Given the description of an element on the screen output the (x, y) to click on. 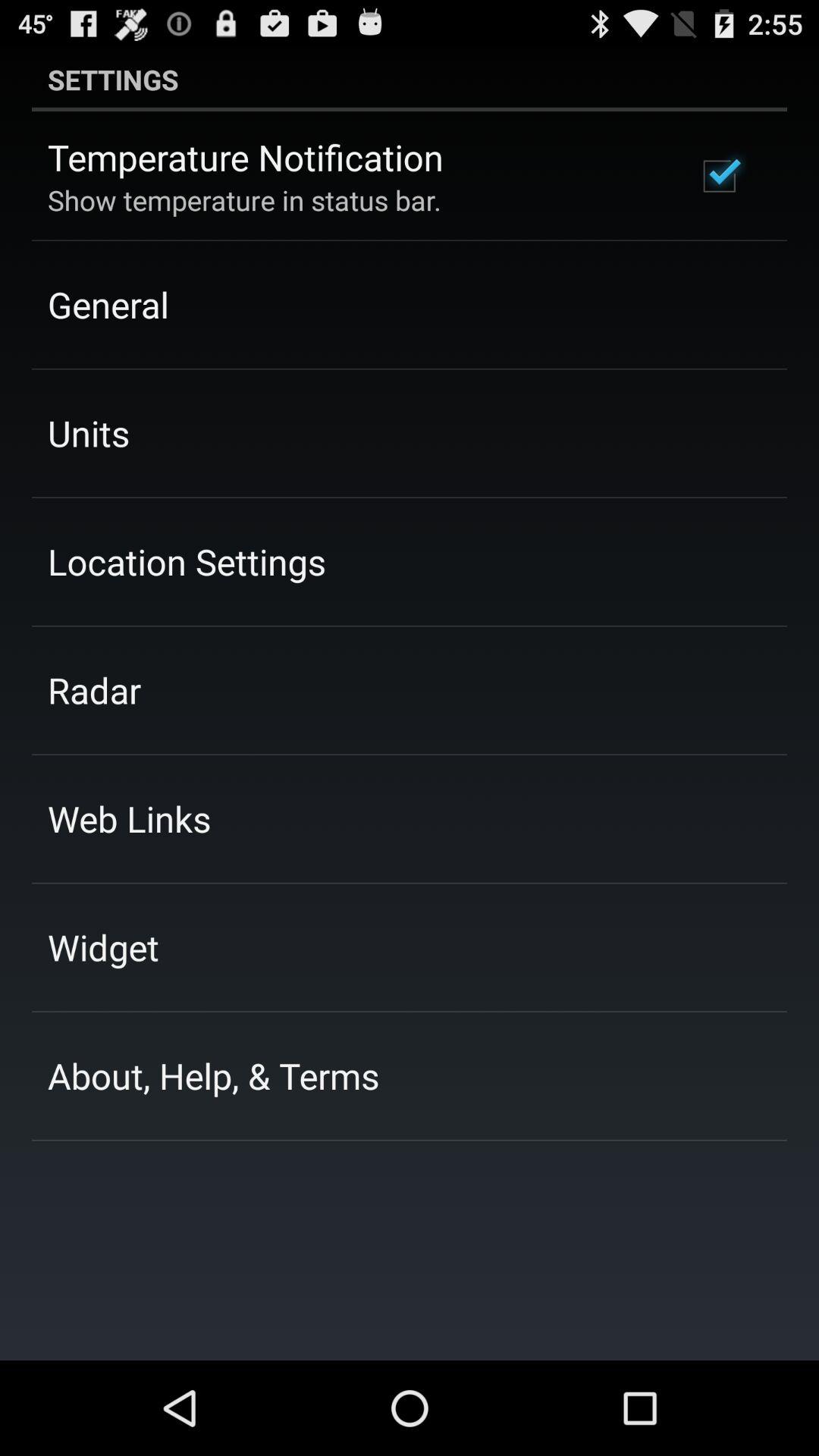
select icon at the top right corner (719, 176)
